Given the description of an element on the screen output the (x, y) to click on. 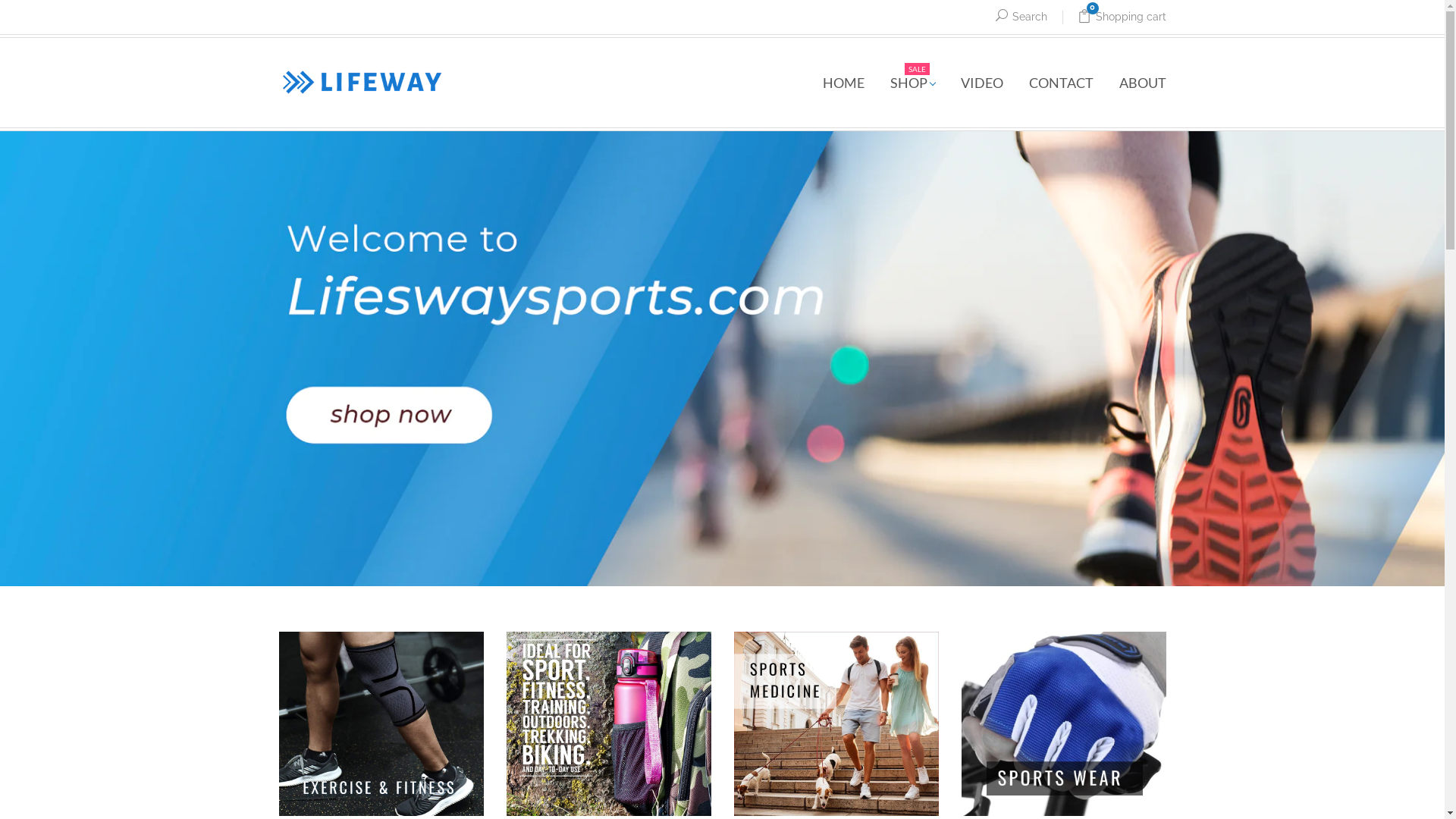
SHOP
SALE Element type: text (911, 82)
HOME Element type: text (843, 82)
ABOUT Element type: text (1135, 82)
CONTACT Element type: text (1061, 82)
Search Element type: text (1020, 18)
VIDEO Element type: text (981, 82)
Shopping cart
Cart
Cart
0 Element type: text (1113, 18)
